Given the description of an element on the screen output the (x, y) to click on. 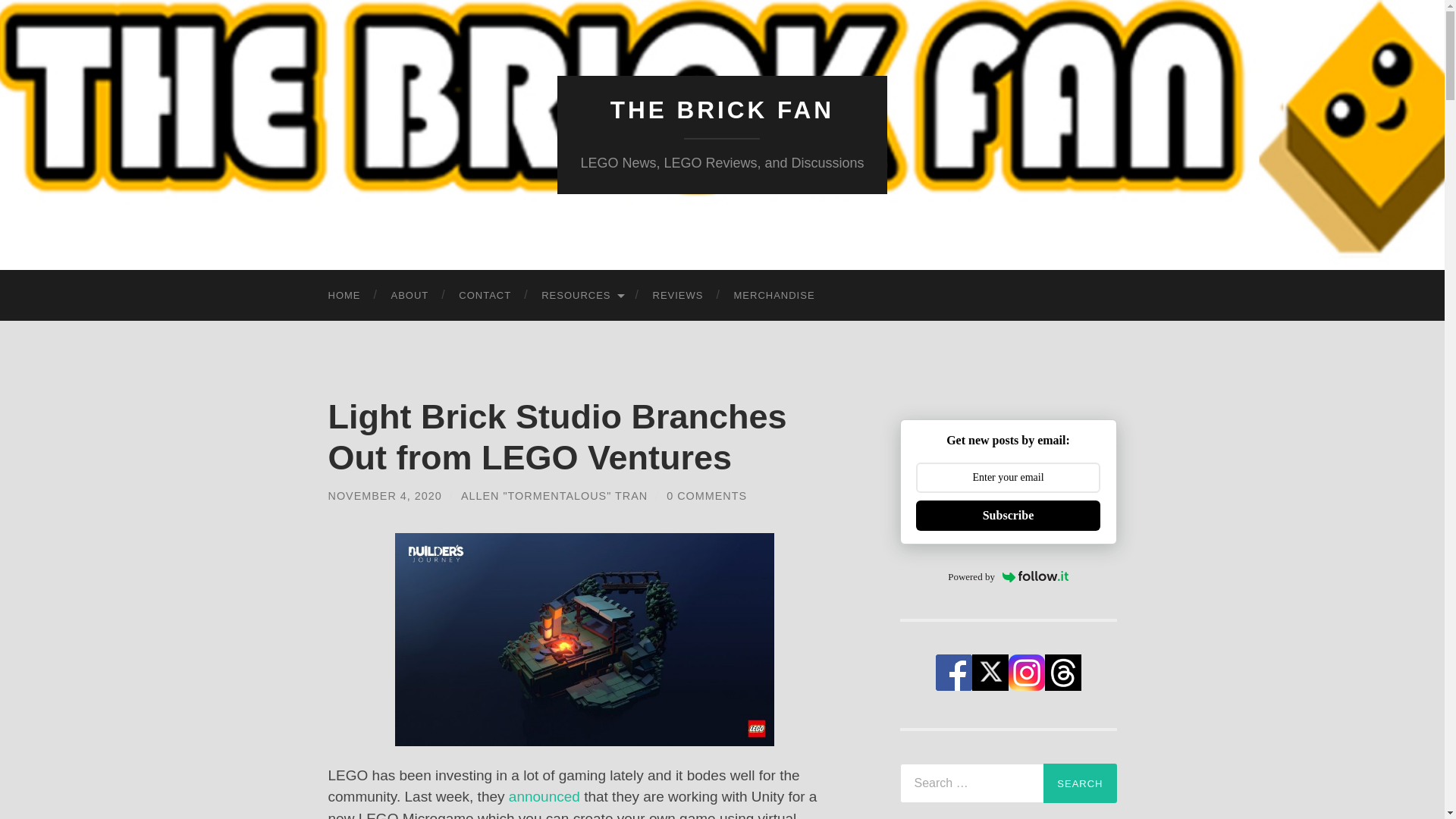
Search (1079, 783)
ALLEN "TORMENTALOUS" TRAN (554, 495)
MERCHANDISE (774, 295)
NOVEMBER 4, 2020 (384, 495)
RESOURCES (581, 295)
ABOUT (409, 295)
0 COMMENTS (706, 495)
CONTACT (484, 295)
HOME (344, 295)
Posts by Allen "Tormentalous" Tran (554, 495)
Search (1079, 783)
THE BRICK FAN (722, 109)
REVIEWS (678, 295)
announced (543, 796)
